Given the description of an element on the screen output the (x, y) to click on. 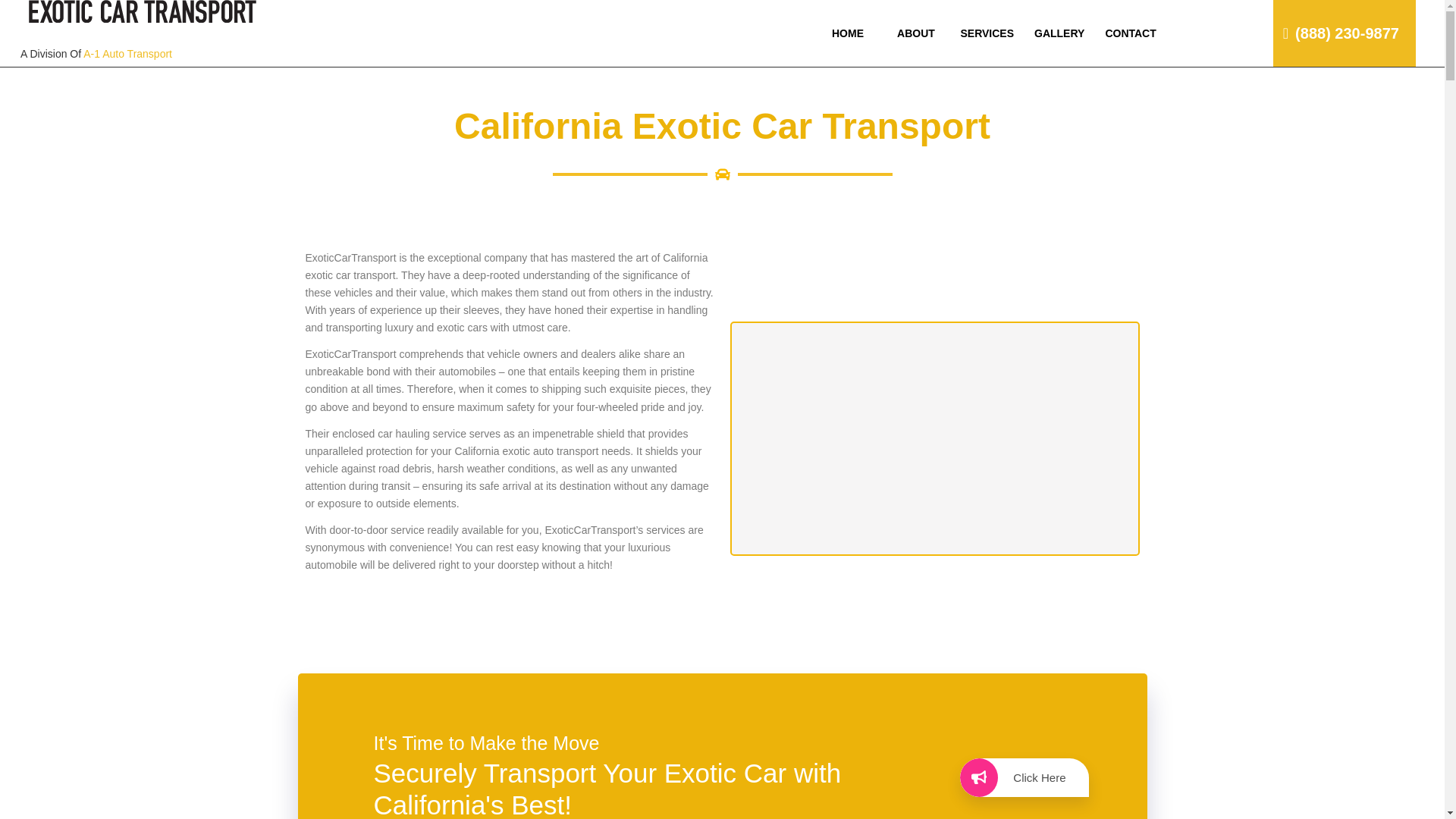
Click Here (1023, 777)
GALLERY (1058, 33)
ABOUT (914, 33)
SERVICES (986, 33)
CONTACT (1130, 33)
HOME (846, 33)
logo-small (142, 33)
logo-small (142, 11)
GET A QUOTE (1272, 66)
A-1 Auto Transport (126, 53)
